Given the description of an element on the screen output the (x, y) to click on. 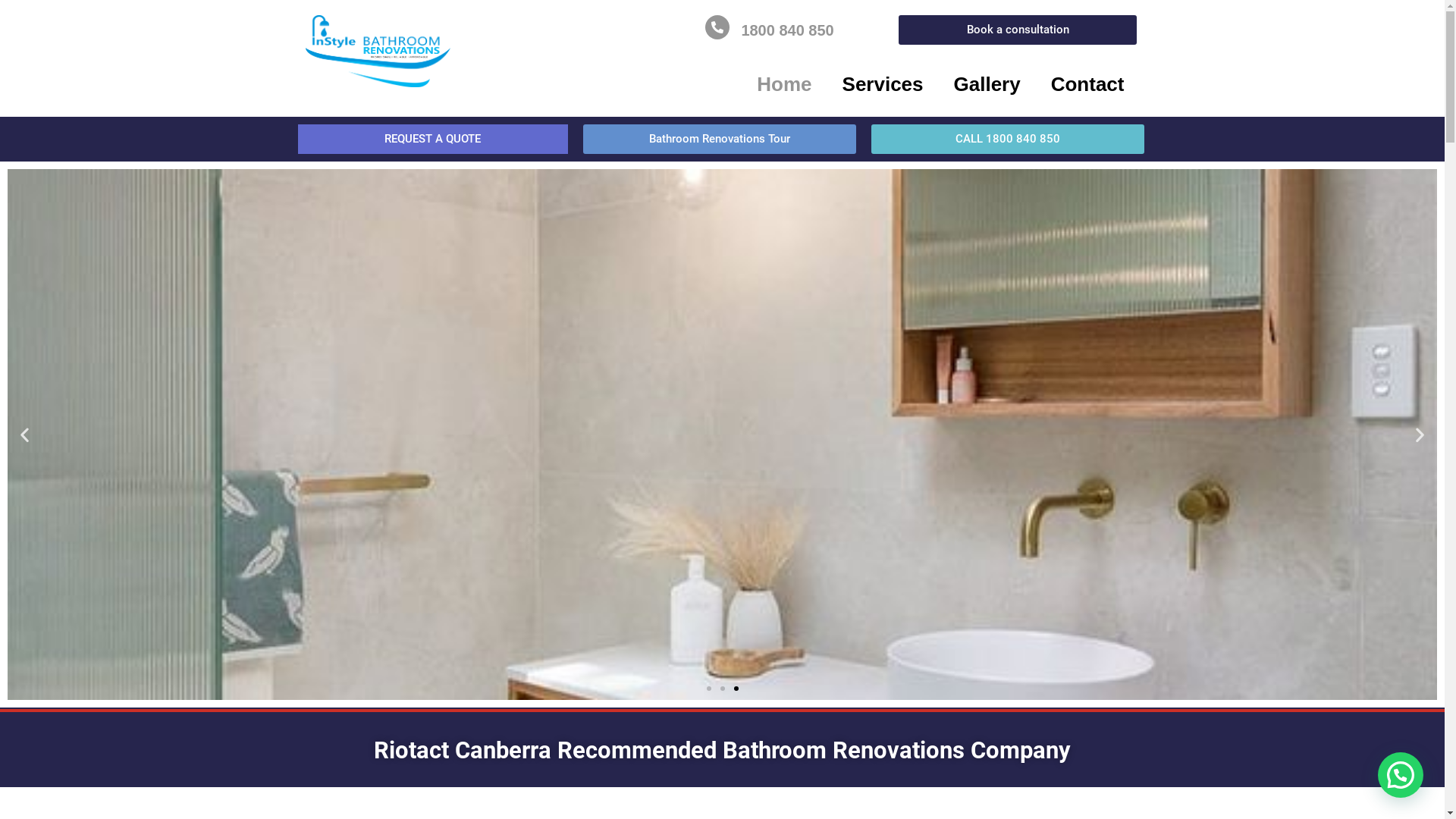
Book a consultation Element type: text (1017, 29)
Home Element type: text (783, 83)
Bathroom Renovations Tour Element type: text (719, 138)
CALL 1800 840 850 Element type: text (1007, 138)
1800 840 850 Element type: text (786, 29)
REQUEST A QUOTE Element type: text (432, 138)
Services Element type: text (882, 83)
Contact Element type: text (1087, 83)
Gallery Element type: text (986, 83)
